Given the description of an element on the screen output the (x, y) to click on. 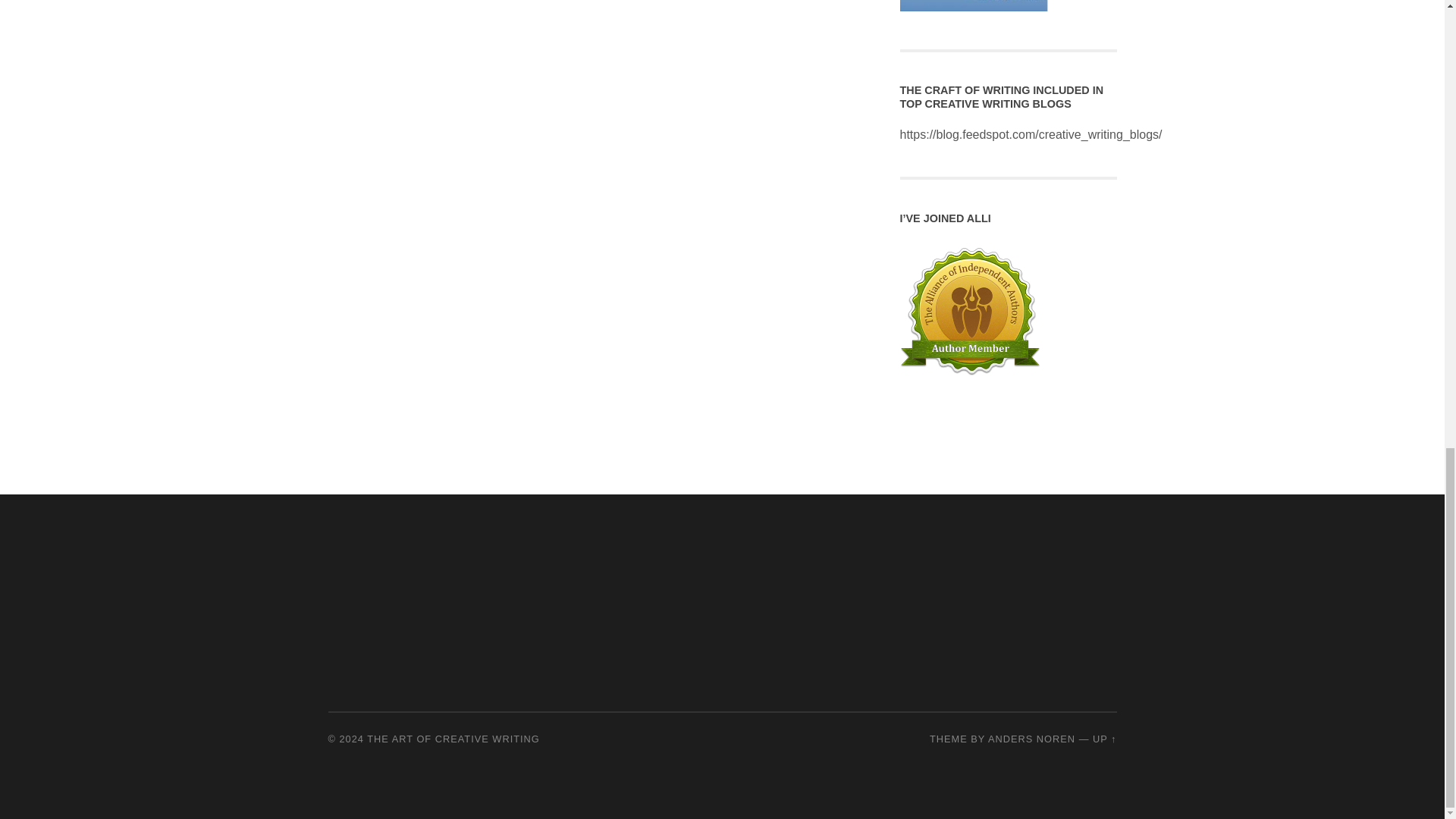
To the top (1104, 738)
My How To book about Writing A Novel: The Big Picture (972, 5)
THE ART OF CREATIVE WRITING (453, 738)
ANDERS NOREN (1031, 738)
